Given the description of an element on the screen output the (x, y) to click on. 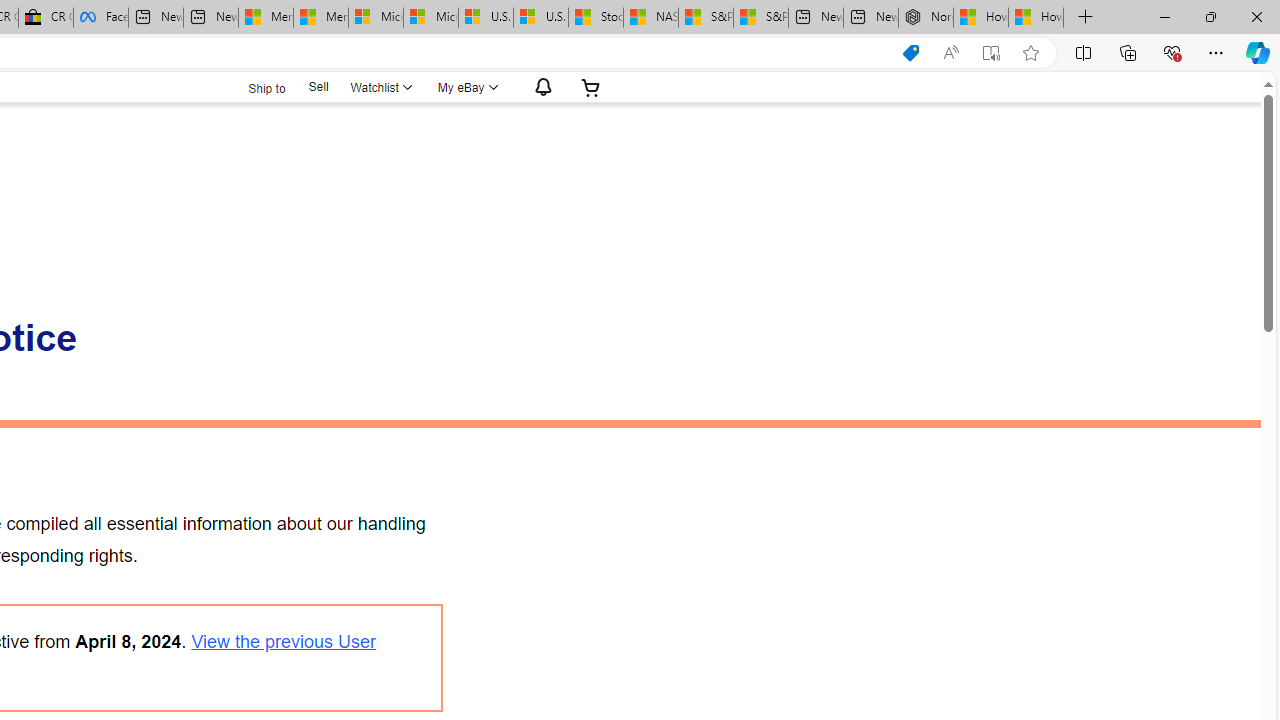
Facebook (100, 17)
WatchlistExpand Watch List (380, 87)
Sell (317, 86)
This site has coupons! Shopping in Microsoft Edge (910, 53)
Enter Immersive Reader (F9) (991, 53)
Sell (318, 87)
How to Use a Monitor With Your Closed Laptop (1035, 17)
